Given the description of an element on the screen output the (x, y) to click on. 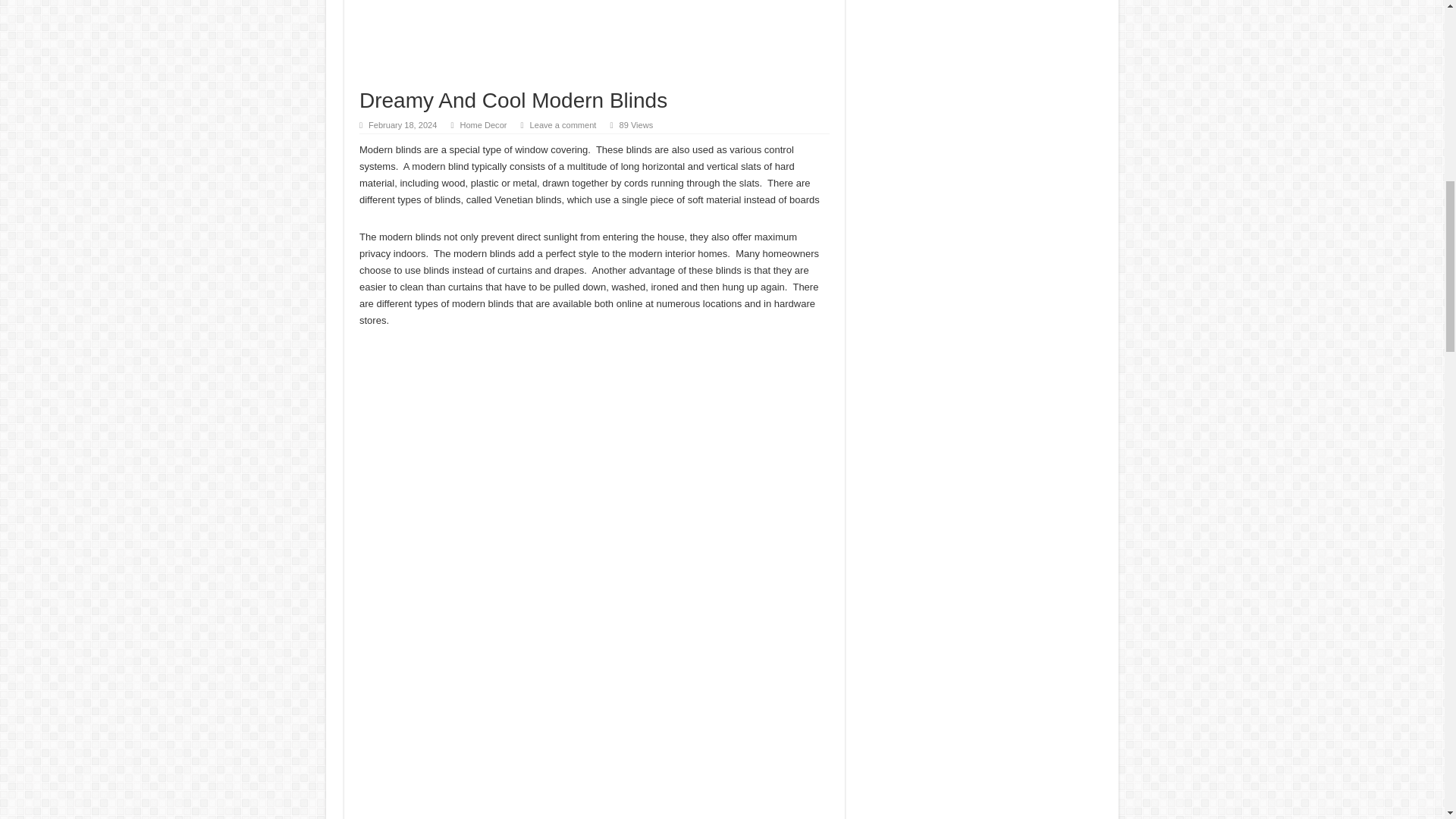
Leave a comment (562, 124)
Home Decor (483, 124)
Scroll To Top (1421, 60)
Advertisement (594, 44)
